Given the description of an element on the screen output the (x, y) to click on. 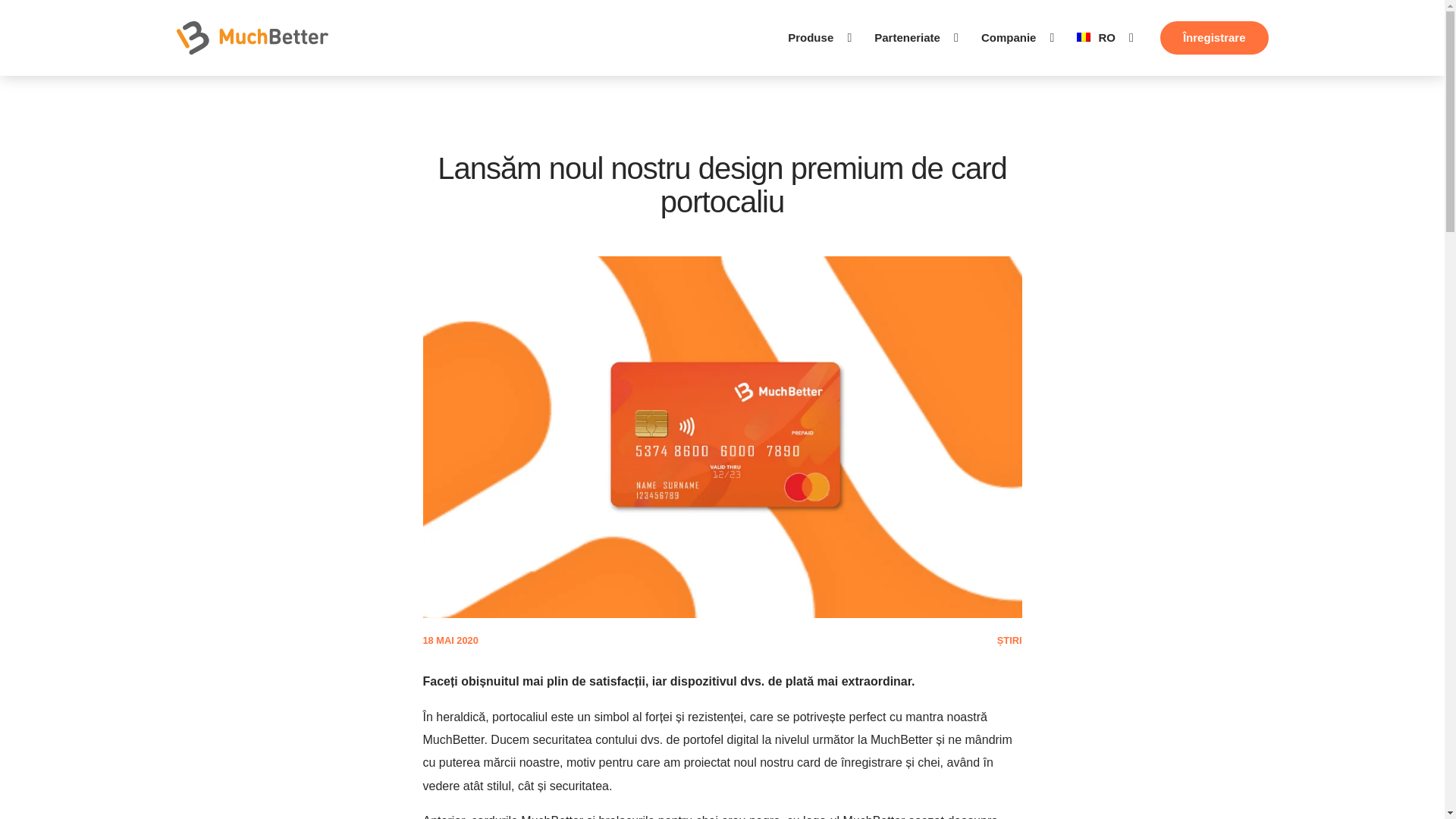
Companie (1008, 37)
RO (1089, 37)
Parteneriate (907, 37)
Produse (809, 37)
